Given the description of an element on the screen output the (x, y) to click on. 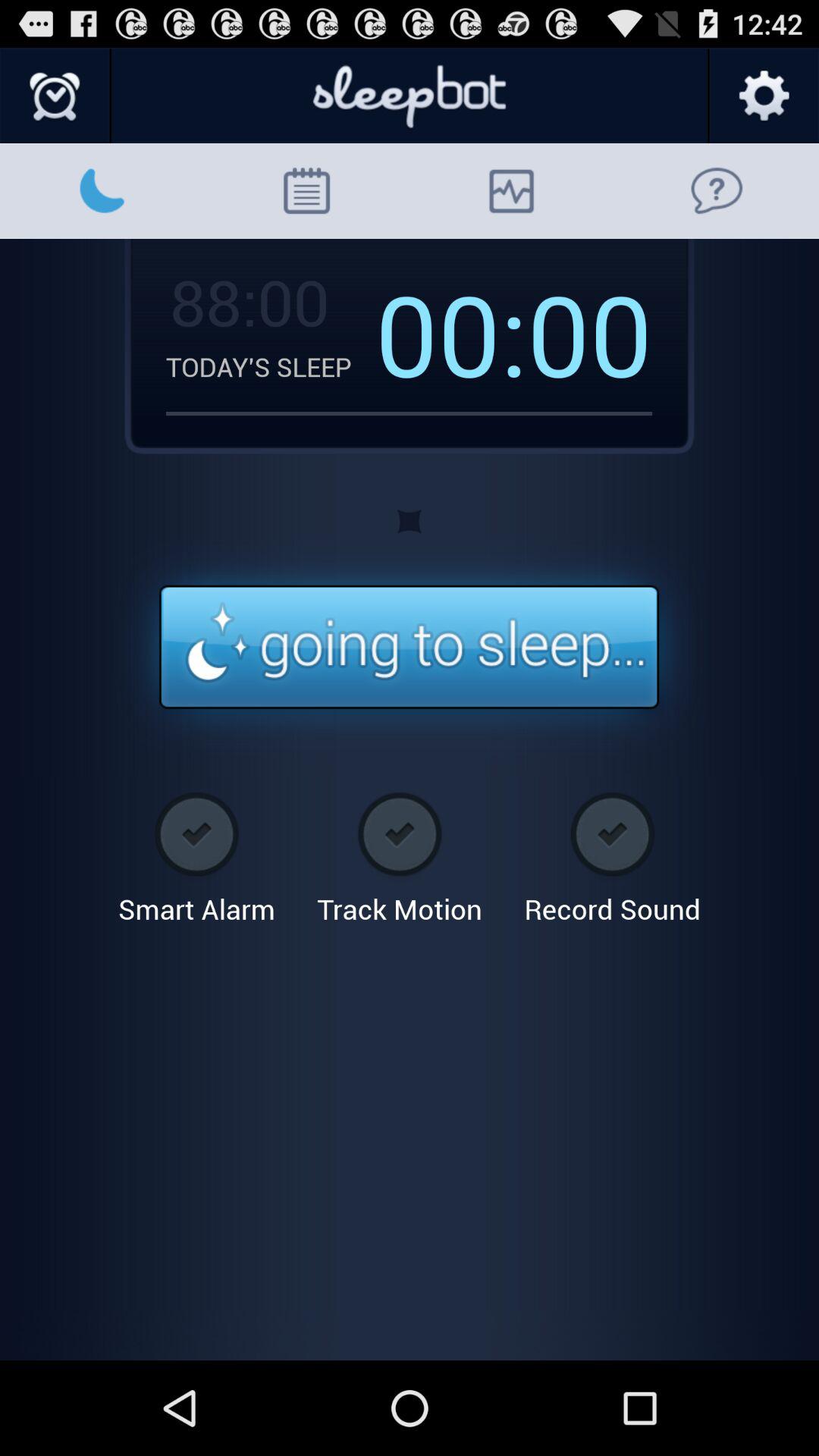
open the icon to the left of 00: icon (270, 366)
